Given the description of an element on the screen output the (x, y) to click on. 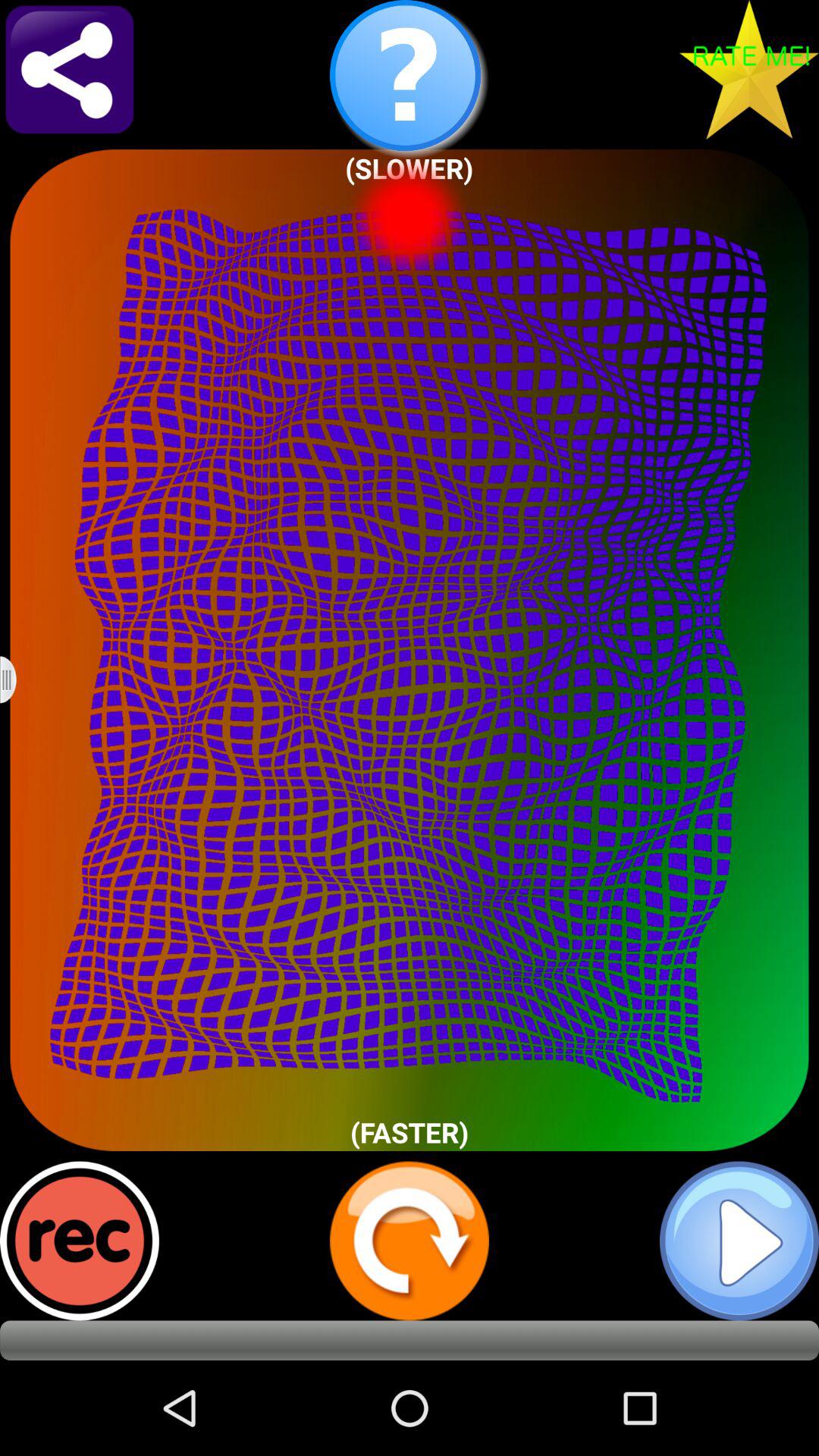
share image (69, 69)
